Given the description of an element on the screen output the (x, y) to click on. 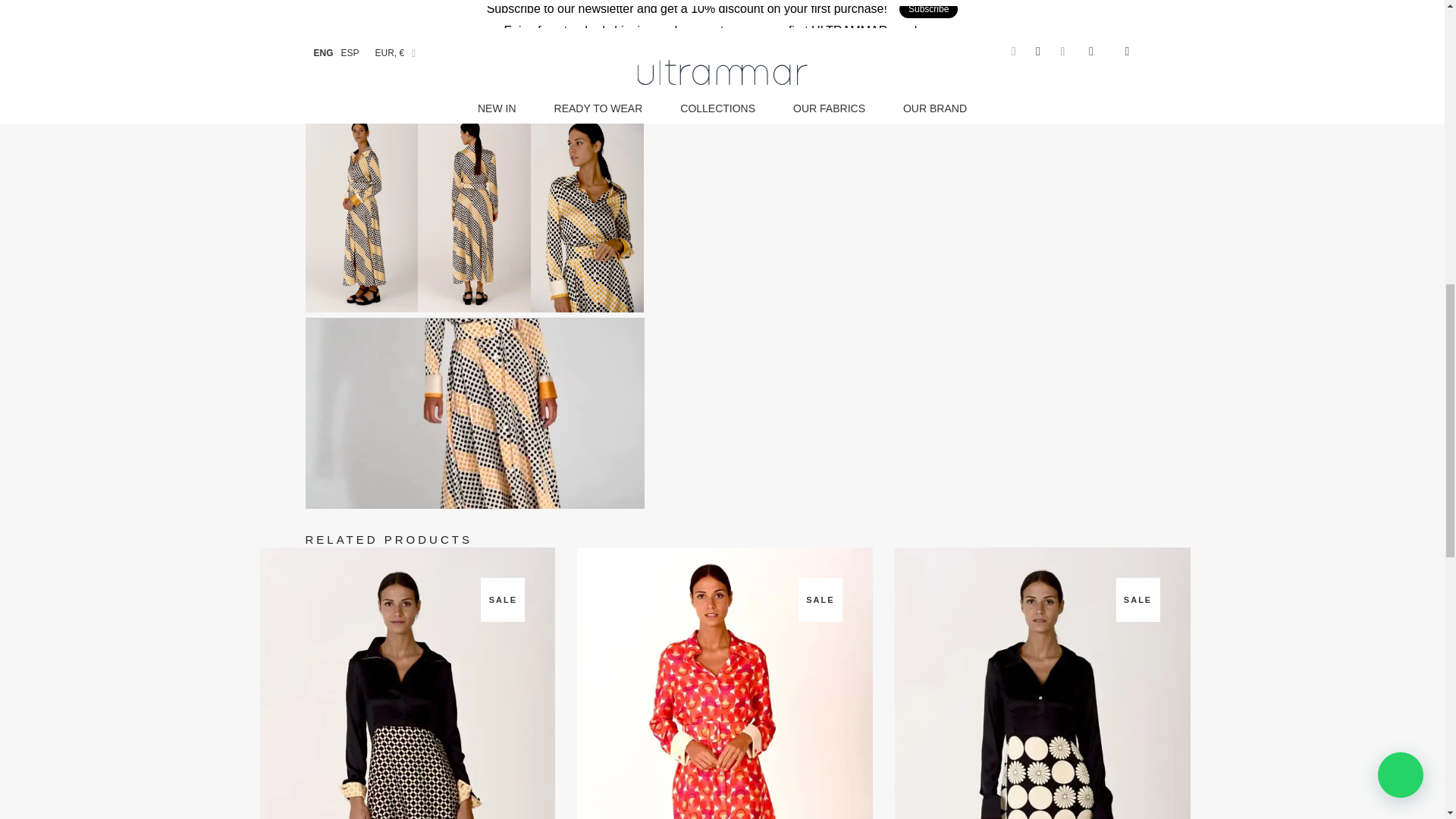
image00060 (473, 53)
